Given the description of an element on the screen output the (x, y) to click on. 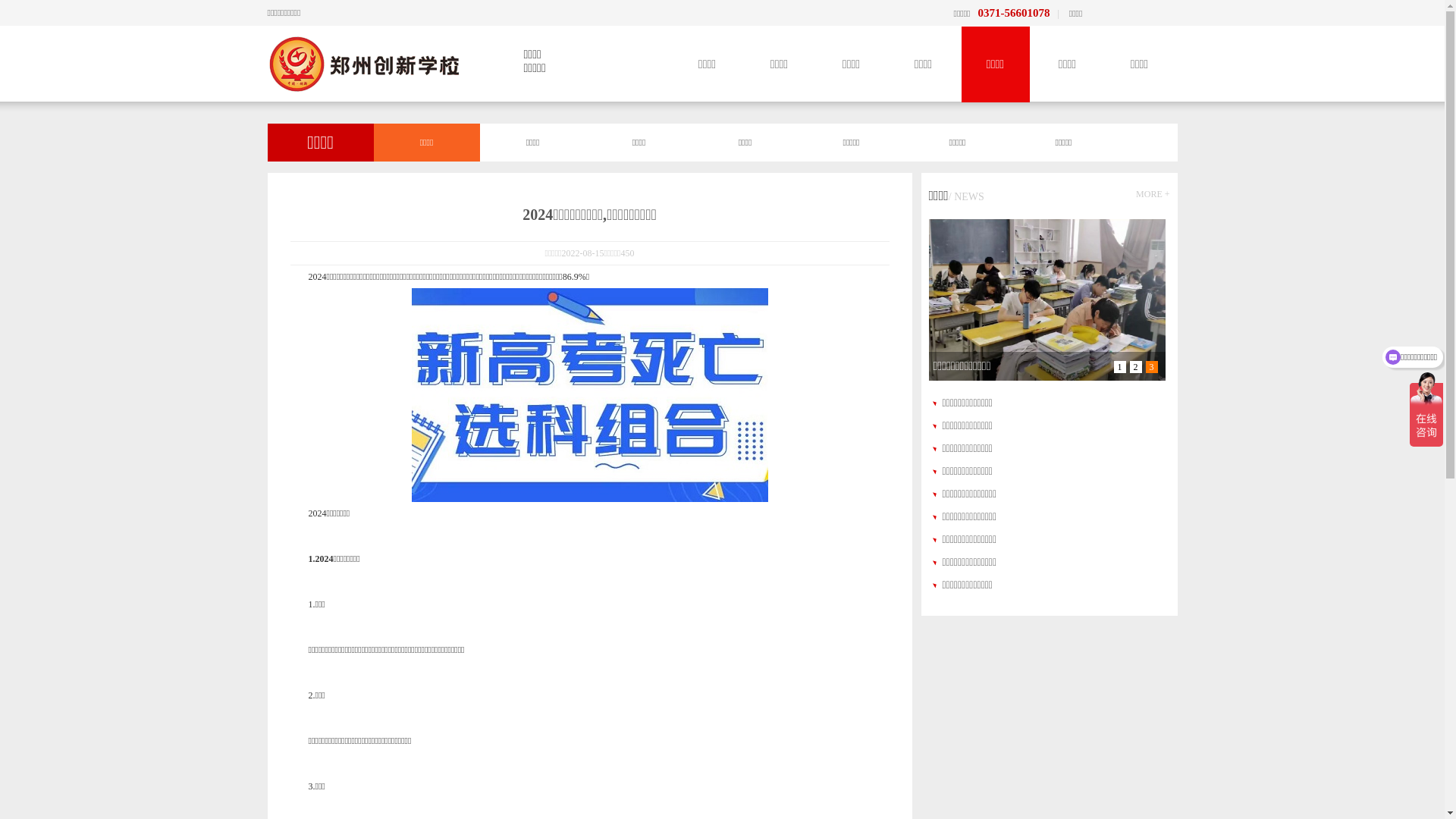
2 Element type: text (1135, 366)
MORE + Element type: text (1152, 193)
3 Element type: text (1151, 366)
1 Element type: text (1119, 366)
